Given the description of an element on the screen output the (x, y) to click on. 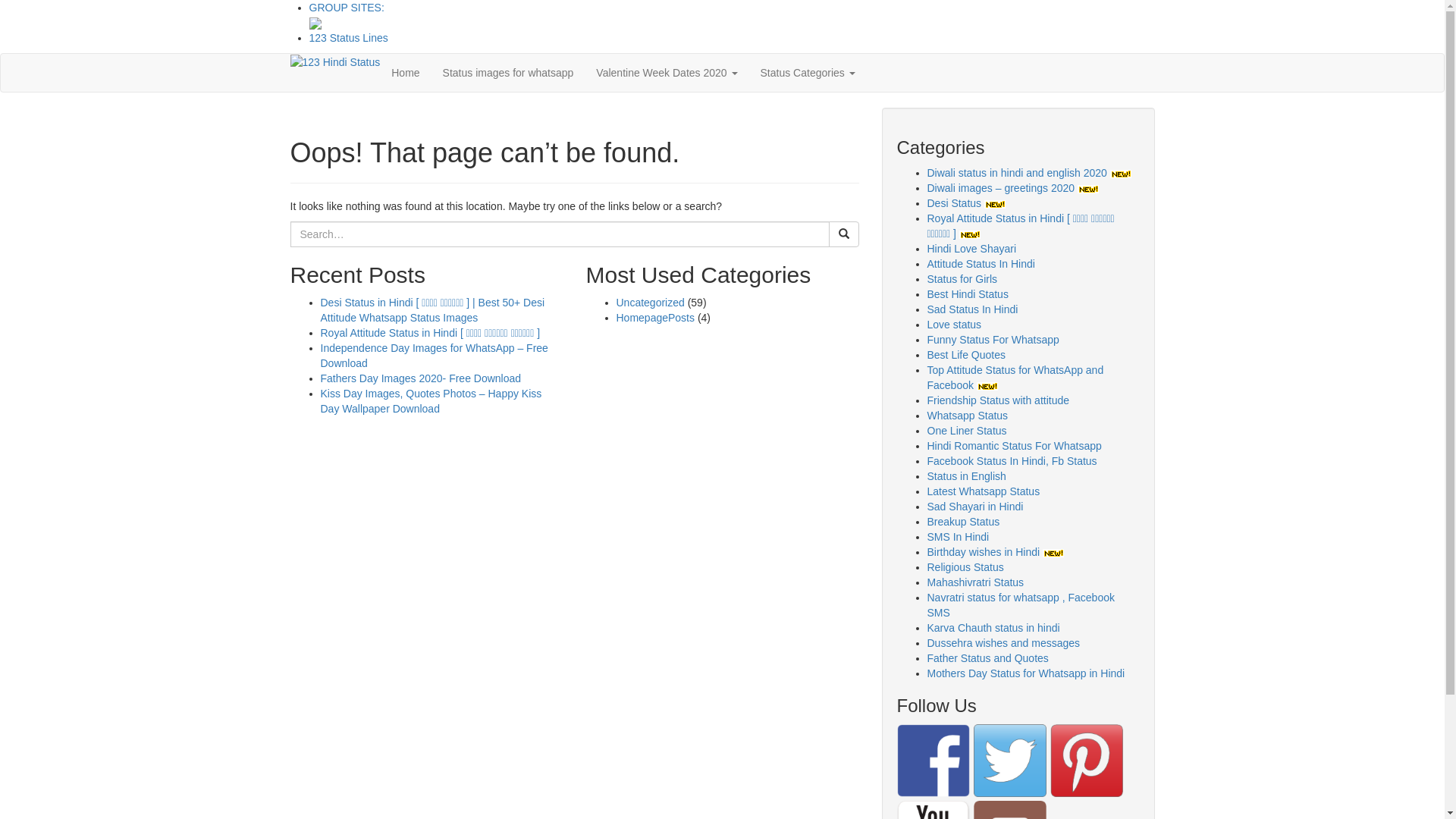
Karva Chauth status in hindi Element type: text (992, 627)
Facebook Status In Hindi, Fb Status Element type: text (1011, 461)
Friendship Status with attitude Element type: text (997, 400)
Valentine Week Dates 2020 Element type: text (666, 72)
Mahashivratri Status Element type: text (974, 582)
Best Life Quotes Element type: text (965, 354)
Navratri status for whatsapp , Facebook SMS Element type: text (1019, 604)
Top Attitude Status for WhatsApp and Facebook Element type: text (1014, 377)
Breakup Status Element type: text (962, 521)
Fathers Day Images 2020- Free Download Element type: text (420, 378)
Funny Status For Whatsapp Element type: text (992, 339)
Love status Element type: text (953, 324)
Search for: Element type: hover (558, 234)
One Liner Status Element type: text (966, 430)
Sad Status In Hindi Element type: text (971, 309)
Status for Girls Element type: text (961, 279)
SMS In Hindi Element type: text (957, 536)
Birthday wishes in Hindi Element type: text (994, 552)
Best Hindi Status Element type: text (966, 294)
Religious Status Element type: text (964, 567)
Father Status and Quotes Element type: text (987, 658)
Dussehra wishes and messages Element type: text (1002, 643)
Home Element type: text (404, 72)
Desi Status Element type: text (965, 203)
Hindi Love Shayari Element type: text (971, 248)
Sad Shayari in Hindi Element type: text (974, 506)
Follow us on Facebook Element type: hover (932, 760)
Uncategorized Element type: text (649, 302)
Mothers Day Status for Whatsapp in Hindi Element type: text (1025, 673)
Follow us on Twitter Element type: hover (1009, 760)
Status in English Element type: text (965, 476)
Latest Whatsapp Status Element type: text (982, 491)
123 Status Lines Element type: text (348, 37)
GROUP SITES: Element type: text (346, 7)
Search Element type: text (843, 234)
Our board on Pinterest Element type: hover (1085, 760)
Status images for whatsapp Element type: text (508, 72)
Whatsapp Status Element type: text (966, 415)
Diwali status in hindi and english 2020 Element type: text (1028, 172)
Status Categories Element type: text (807, 72)
HomepagePosts Element type: text (654, 317)
Attitude Status In Hindi Element type: text (980, 263)
Hindi Romantic Status For Whatsapp Element type: text (1013, 445)
